Given the description of an element on the screen output the (x, y) to click on. 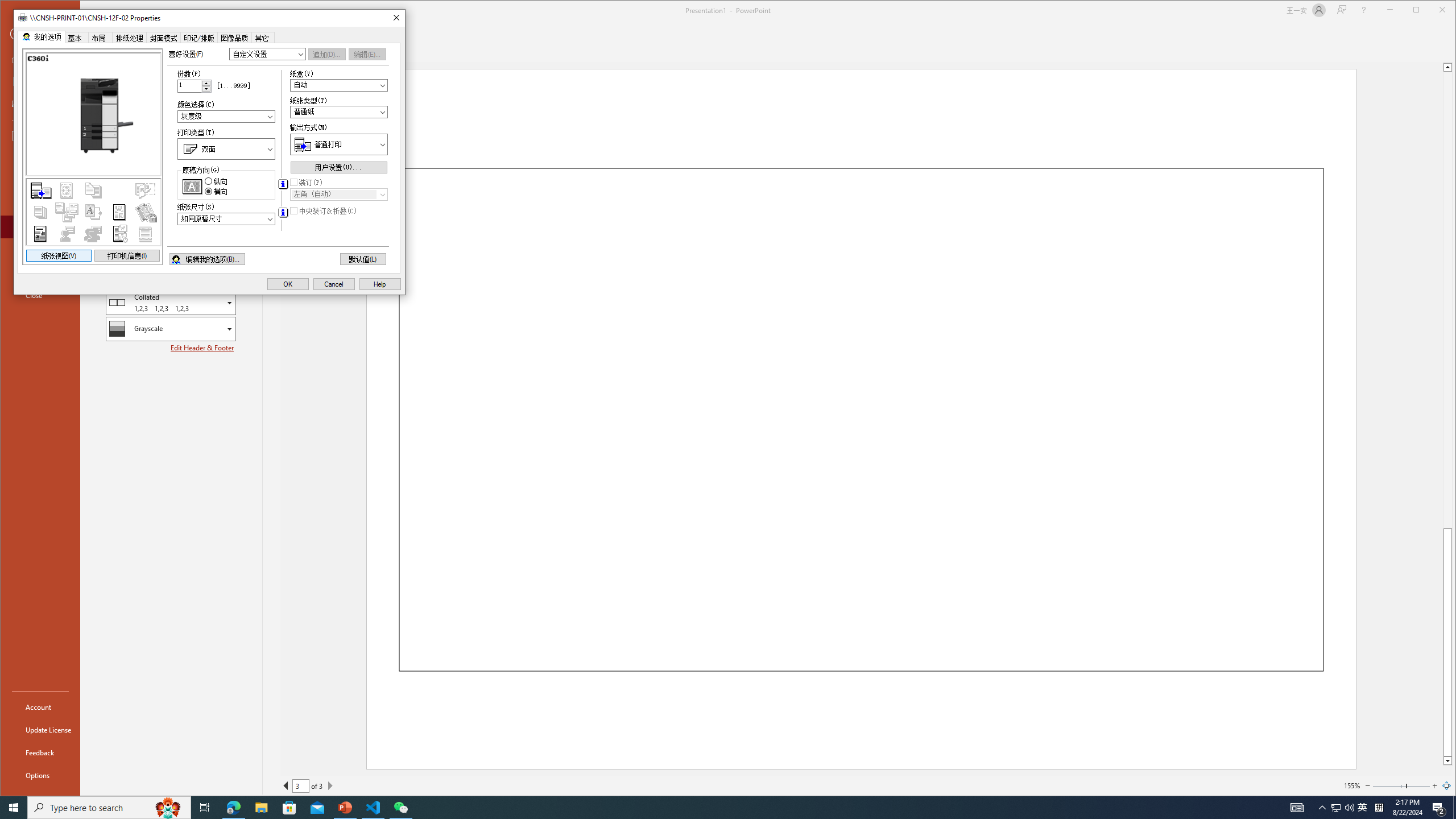
Running applications (707, 807)
Options (40, 775)
Class: NetUIScrollBar (1447, 413)
AutomationID: 1012 (205, 85)
Color/Grayscale (170, 328)
AutomationID: 1199 (92, 156)
Zoom to Page (1446, 785)
Page right (1418, 785)
